Given the description of an element on the screen output the (x, y) to click on. 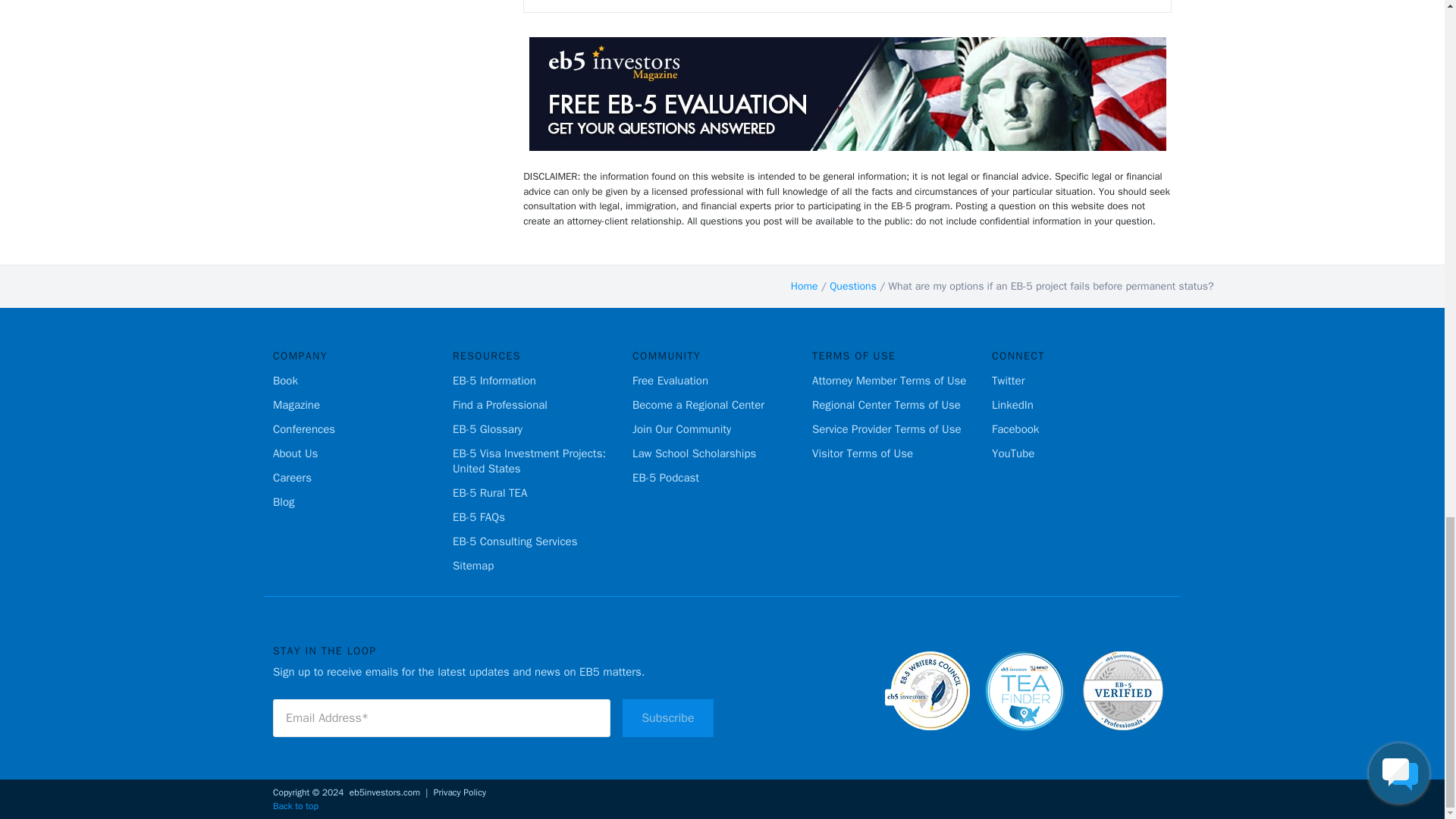
Subscribe (668, 717)
